Given the description of an element on the screen output the (x, y) to click on. 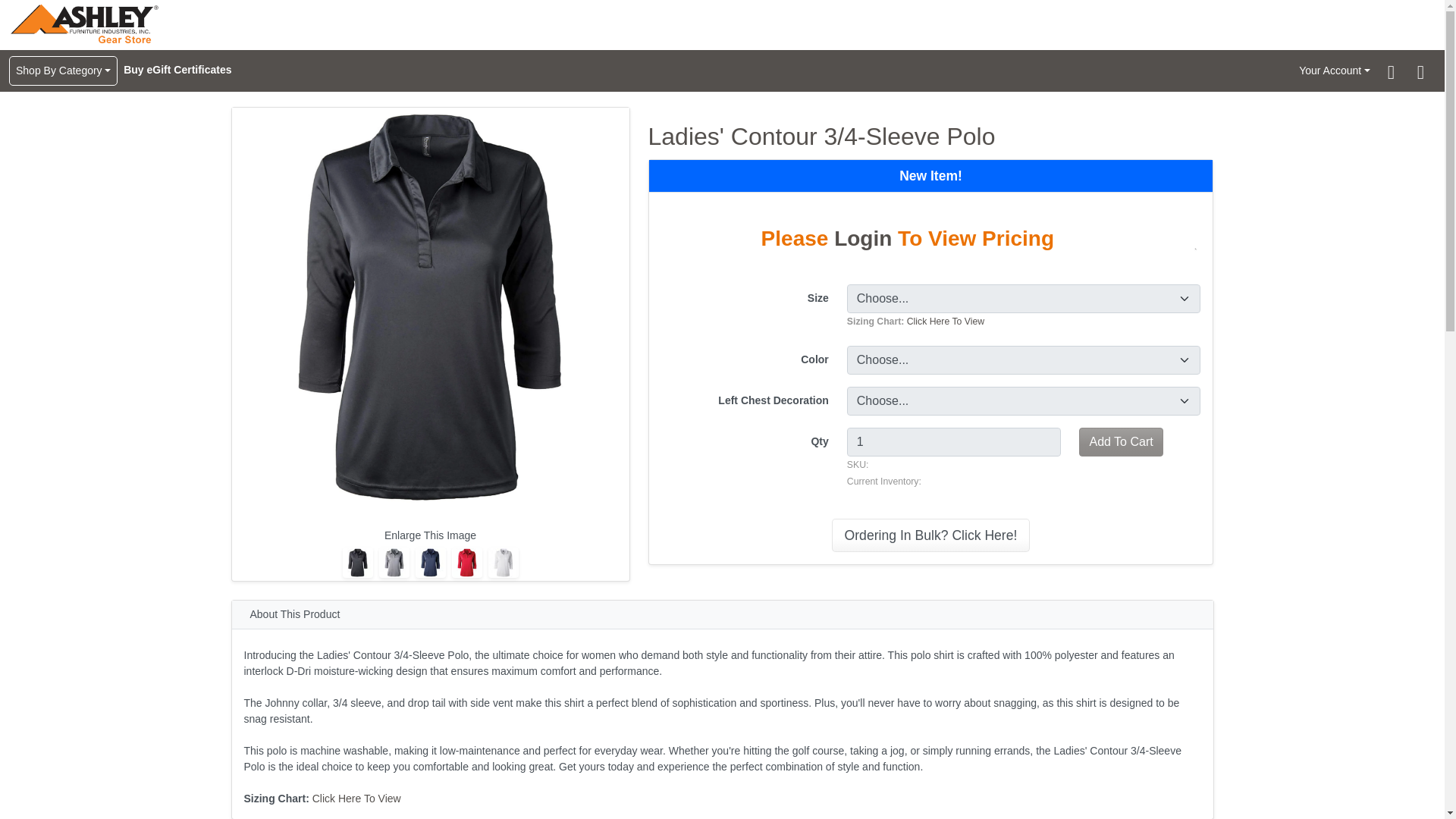
Shopping Cart (1419, 74)
Buy eGift Certificates (177, 70)
Your Account (1333, 70)
Shop By Category (62, 70)
Ashley Furniture Gear (84, 24)
Favorite products (1390, 72)
